Given the description of an element on the screen output the (x, y) to click on. 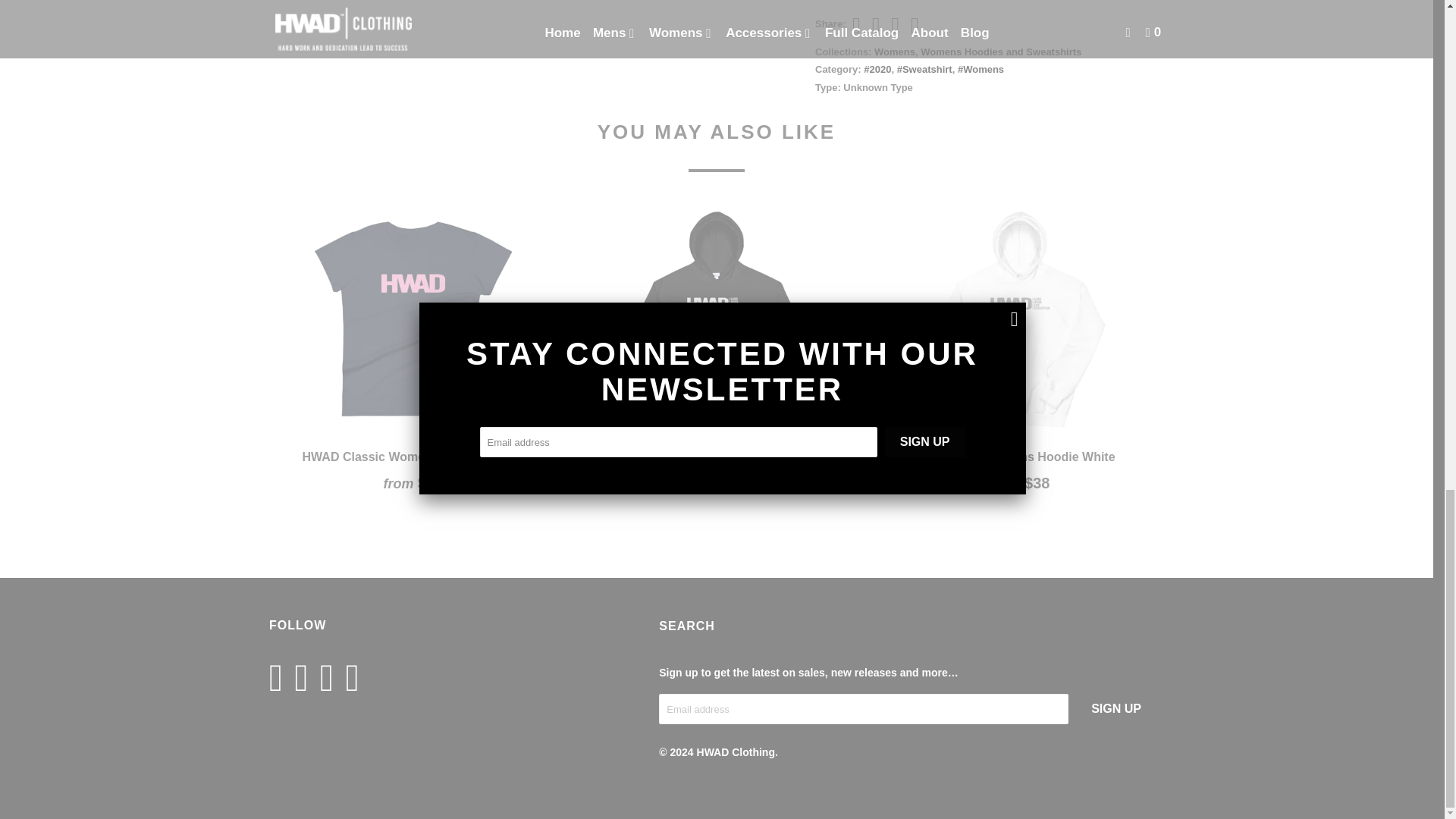
Sign Up (1115, 708)
Womens Hoodies and Sweatshirts (1000, 51)
Womens (895, 51)
